Given the description of an element on the screen output the (x, y) to click on. 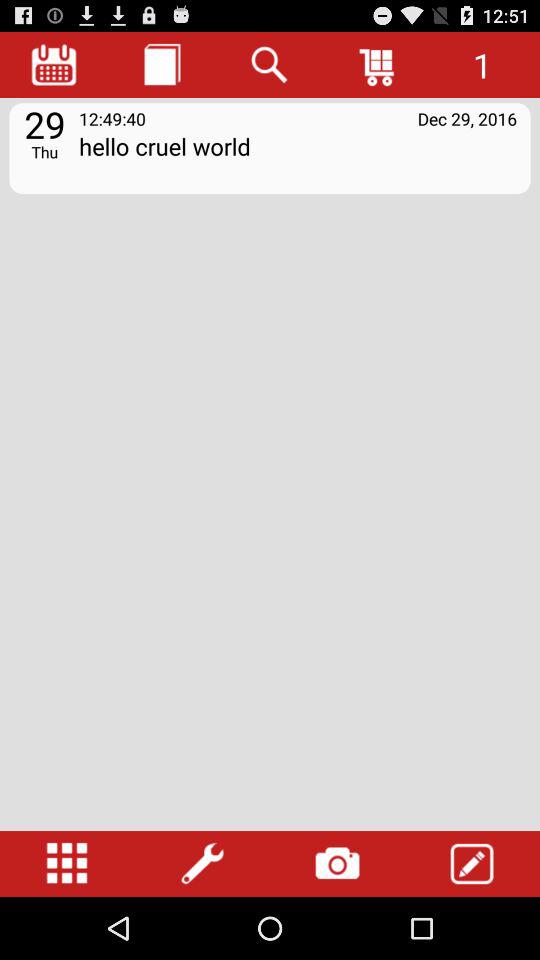
launch the item below the hello cruel world app (337, 863)
